Given the description of an element on the screen output the (x, y) to click on. 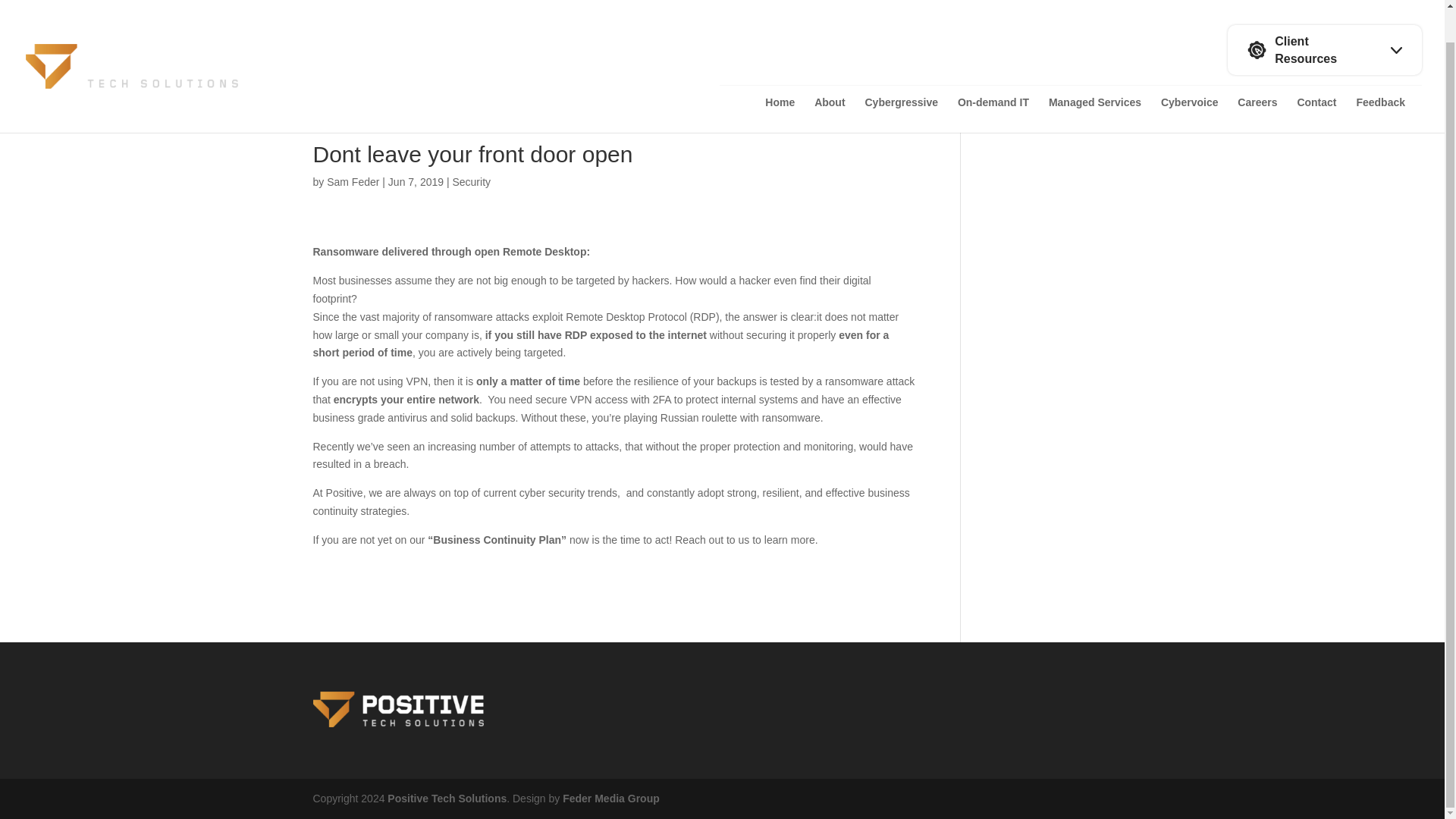
Careers (1256, 81)
Posts by Sam Feder (352, 182)
Managed Services (1094, 81)
Cybervoice (1188, 81)
Feedback (1380, 81)
On-demand IT (993, 81)
Contact (1316, 81)
Cybergressive (900, 81)
